Given the description of an element on the screen output the (x, y) to click on. 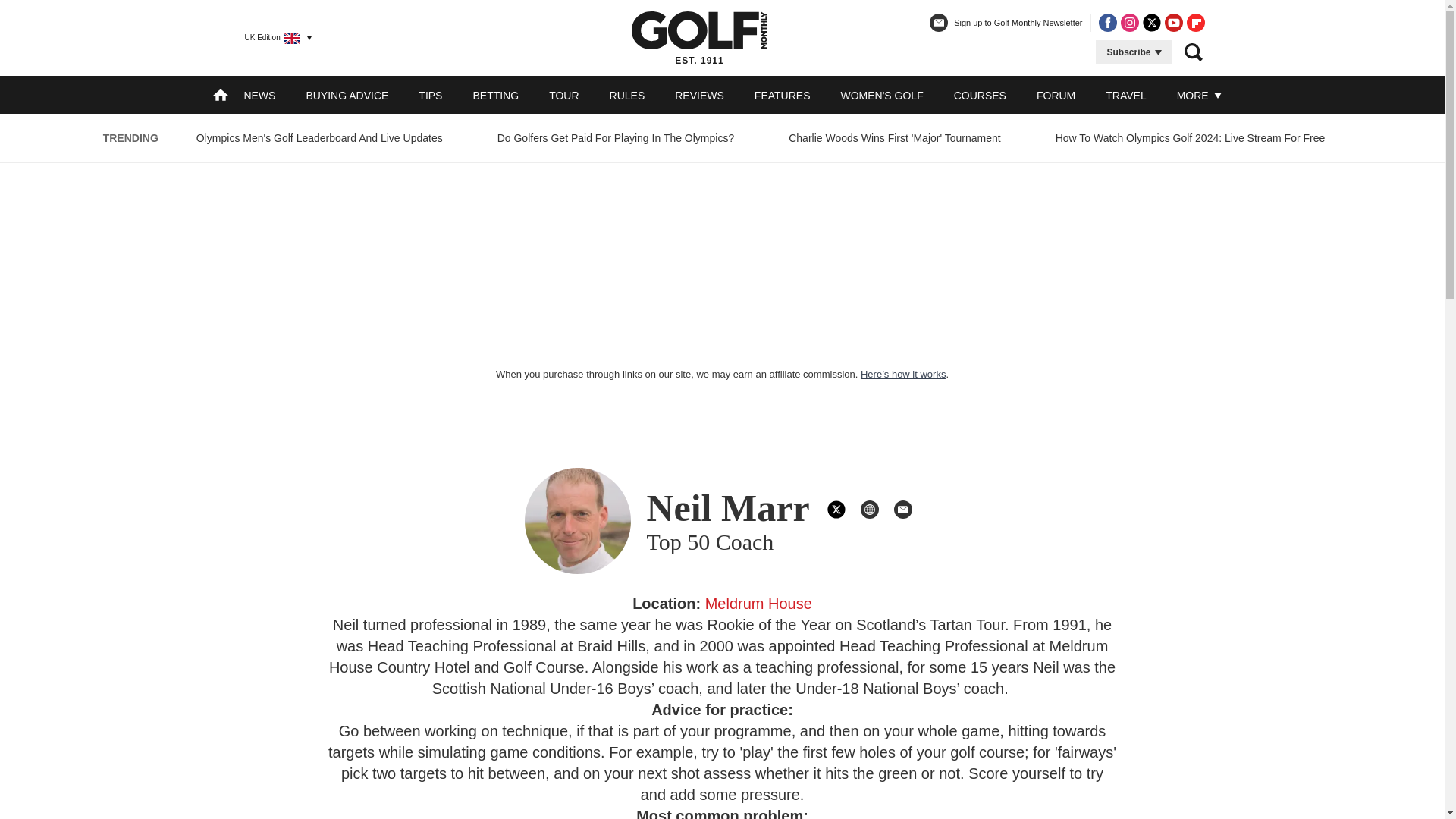
FEATURES (782, 95)
Charlie Woods Wins First 'Major' Tournament (894, 137)
TOUR (563, 95)
TRAVEL (1125, 95)
NEWS (259, 95)
How To Watch Olympics Golf 2024: Live Stream For Free (1189, 137)
TIPS (430, 95)
UK Edition (271, 37)
FORUM (1055, 95)
REVIEWS (699, 95)
